Given the description of an element on the screen output the (x, y) to click on. 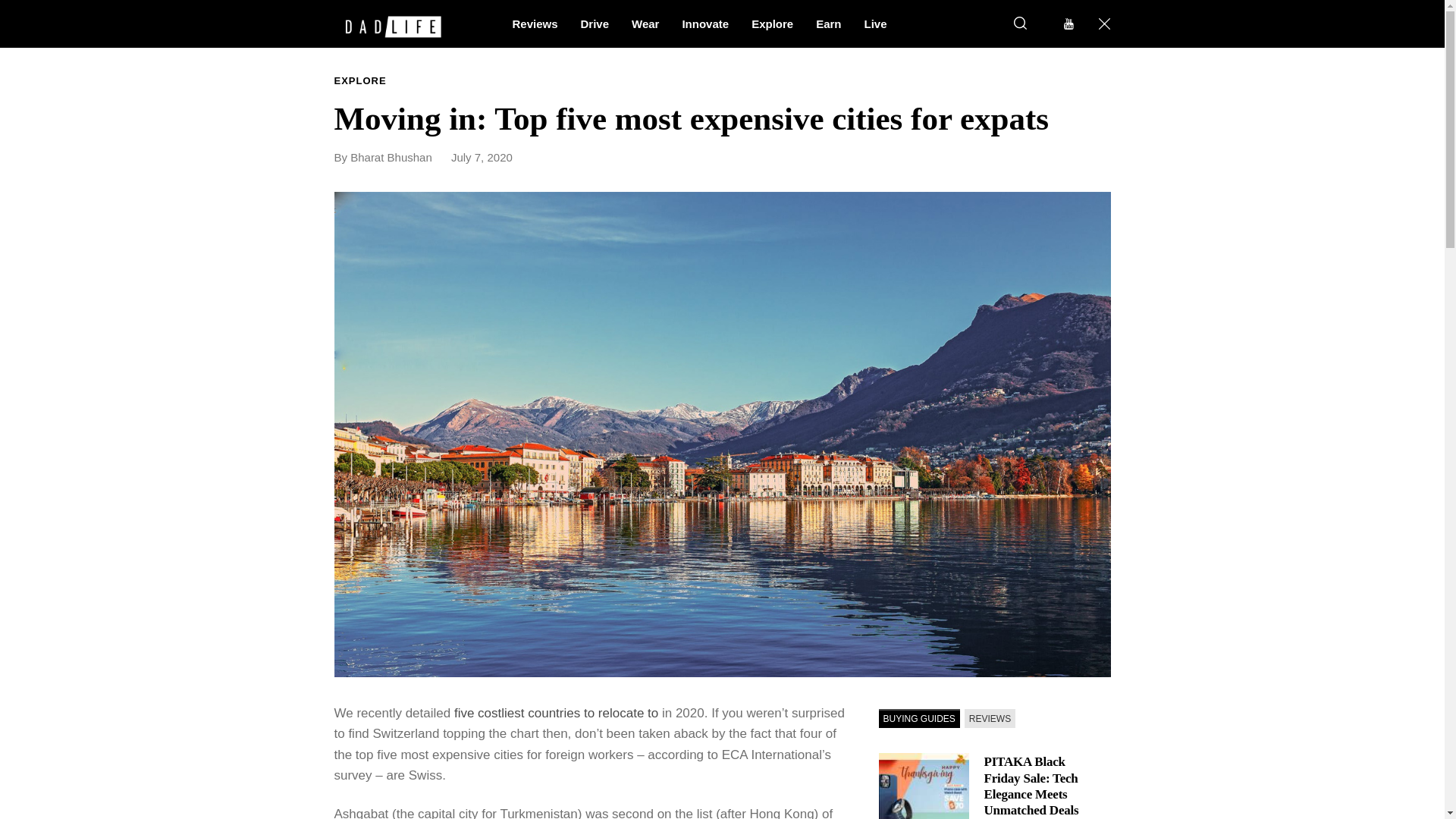
Explore (772, 22)
By Bharat Bhushan (389, 156)
REVIEWS (988, 718)
Reviews (534, 22)
BUYING GUIDES (918, 718)
Live (875, 22)
Innovate (704, 22)
Drive (594, 22)
Wear (644, 22)
